Given the description of an element on the screen output the (x, y) to click on. 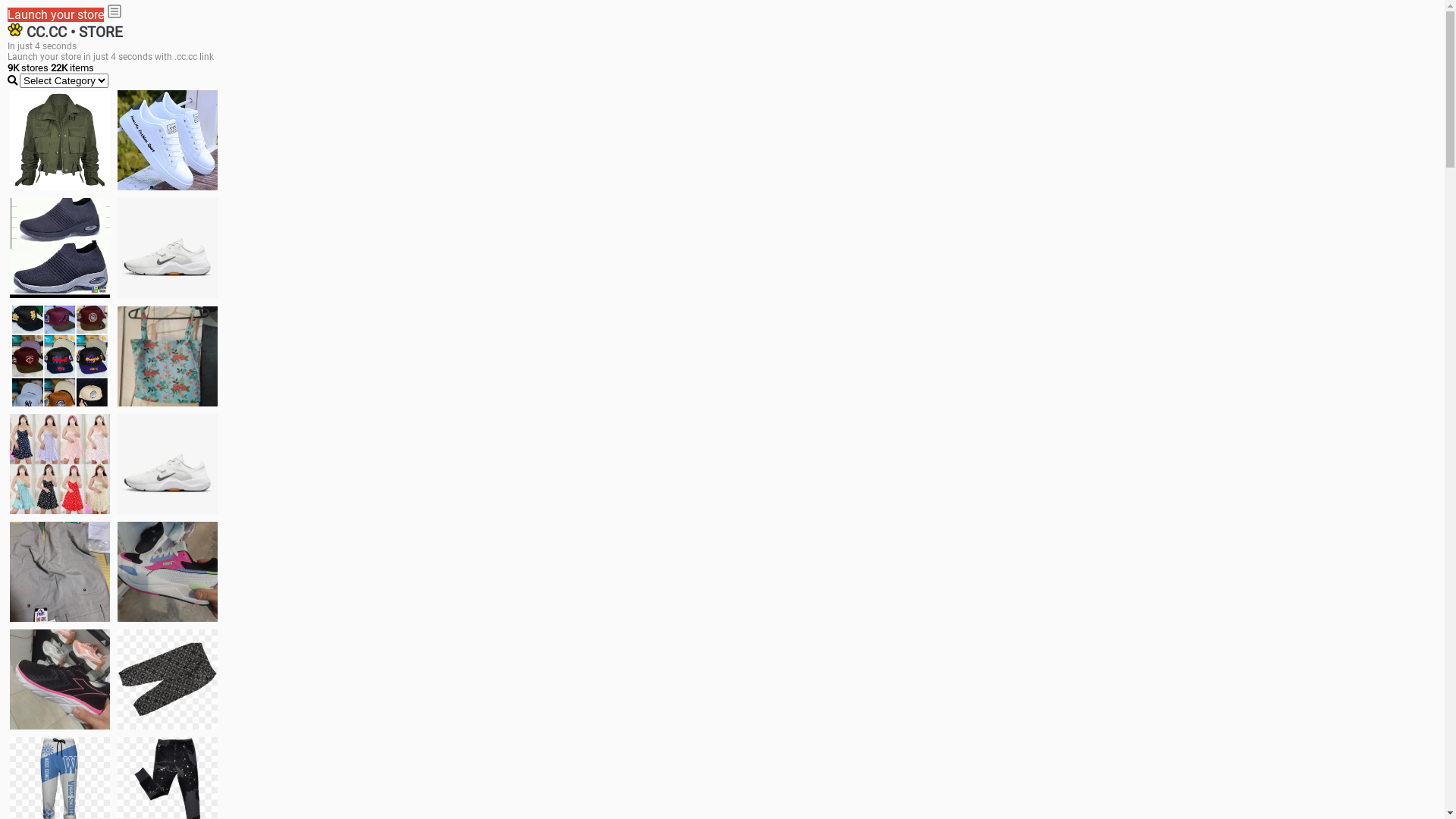
white shoes Element type: hover (167, 140)
Things we need Element type: hover (59, 355)
Launch your store Element type: text (55, 14)
Shoes for boys Element type: hover (167, 247)
Zapatillas Element type: hover (59, 679)
Zapatillas pumas Element type: hover (167, 571)
Short pant Element type: hover (167, 679)
shoes for boys Element type: hover (59, 247)
jacket Element type: hover (59, 140)
Shoes Element type: hover (167, 464)
Ukay cloth Element type: hover (167, 356)
Dress/square nect top Element type: hover (59, 464)
